Given the description of an element on the screen output the (x, y) to click on. 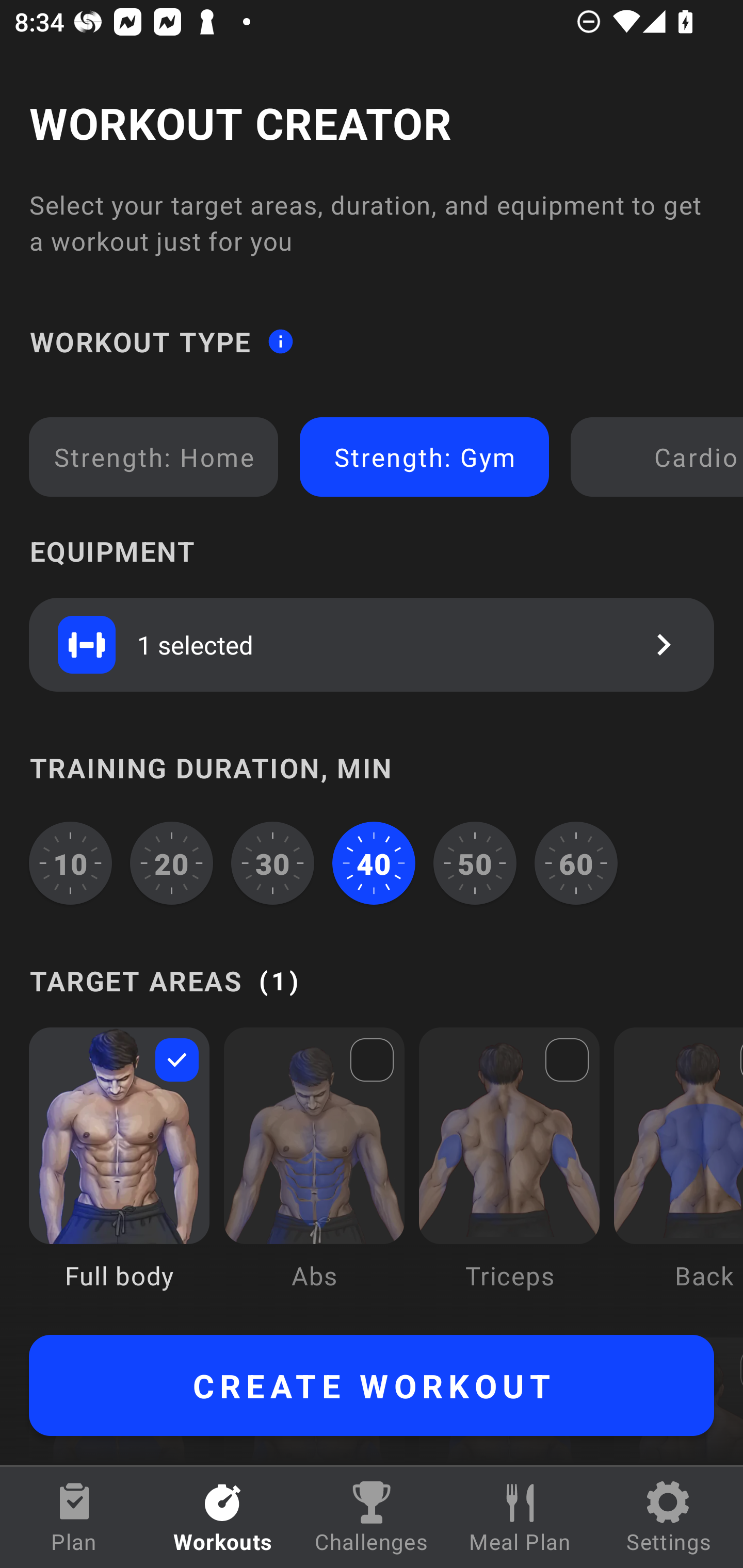
Workout type information button (280, 340)
Strength: Home (153, 457)
Cardio (660, 457)
1 selected (371, 644)
10 (70, 863)
20 (171, 863)
30 (272, 863)
40 (373, 863)
50 (474, 863)
60 (575, 863)
Abs (313, 1172)
Triceps (509, 1172)
Back (678, 1172)
CREATE WORKOUT (371, 1385)
 Plan  (74, 1517)
 Challenges  (371, 1517)
 Meal Plan  (519, 1517)
 Settings  (668, 1517)
